Given the description of an element on the screen output the (x, y) to click on. 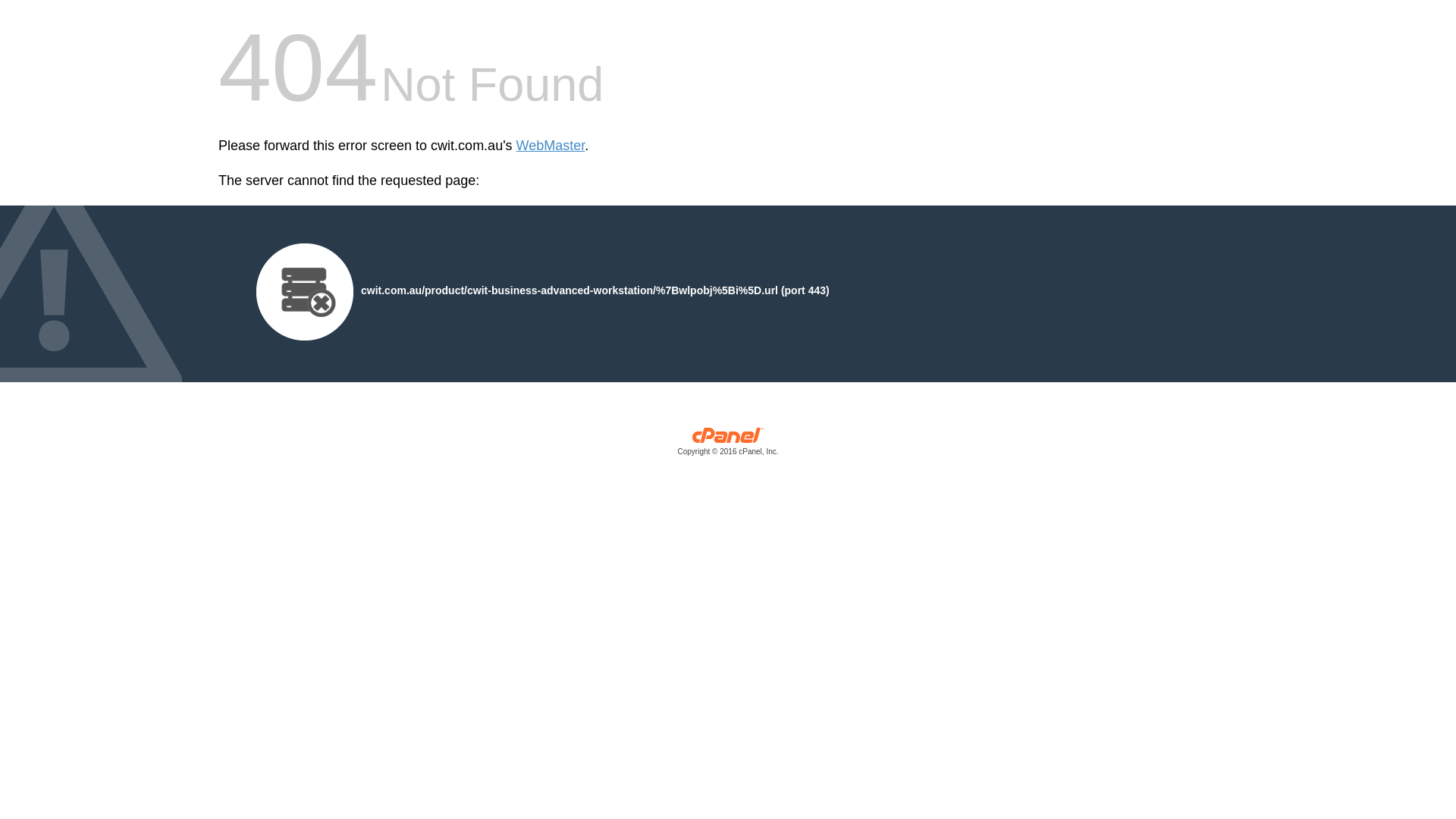
WebMaster Element type: text (550, 145)
